Given the description of an element on the screen output the (x, y) to click on. 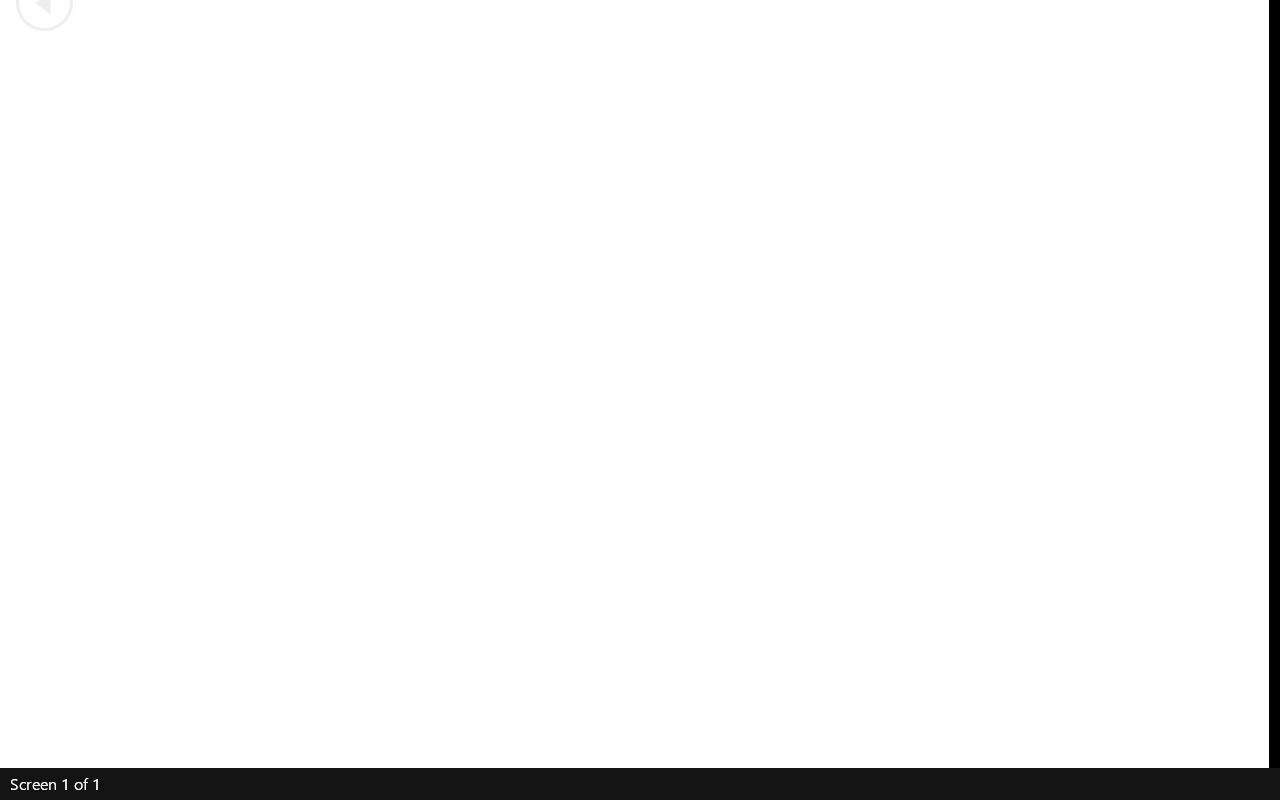
auto.py (287, 584)
test.py (287, 436)
VMware Workstation Pro (57, 300)
PyCharm 2022.2 (287, 152)
